Given the description of an element on the screen output the (x, y) to click on. 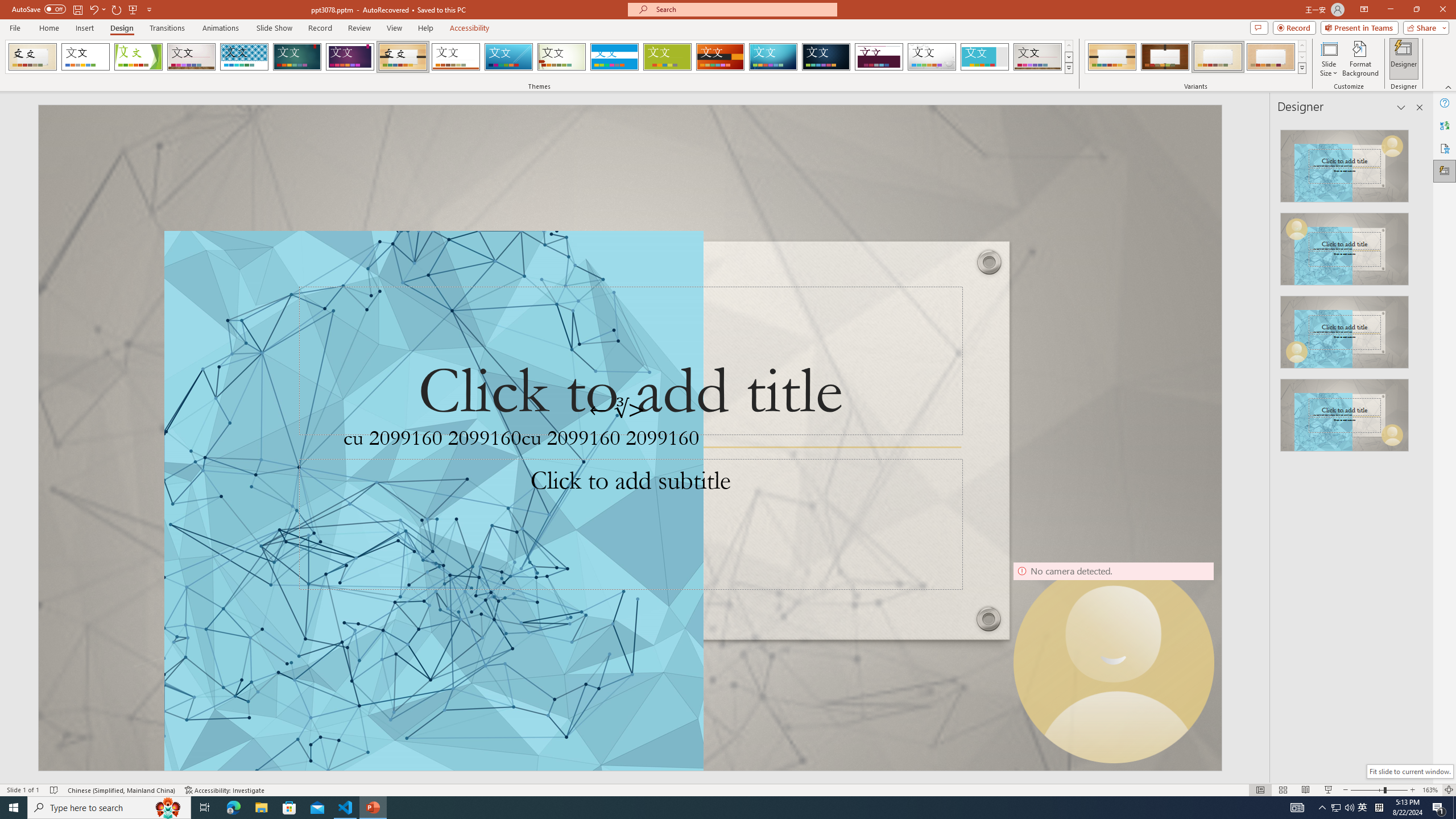
Designer (1444, 170)
Berlin (720, 56)
Ion Boardroom (350, 56)
AutomationID: SlideThemesGallery (539, 56)
Ion (296, 56)
Close pane (1419, 107)
Format Background (1360, 58)
AutoSave (38, 9)
Frame (984, 56)
Themes (1068, 67)
Organic Variant 1 (1112, 56)
